Given the description of an element on the screen output the (x, y) to click on. 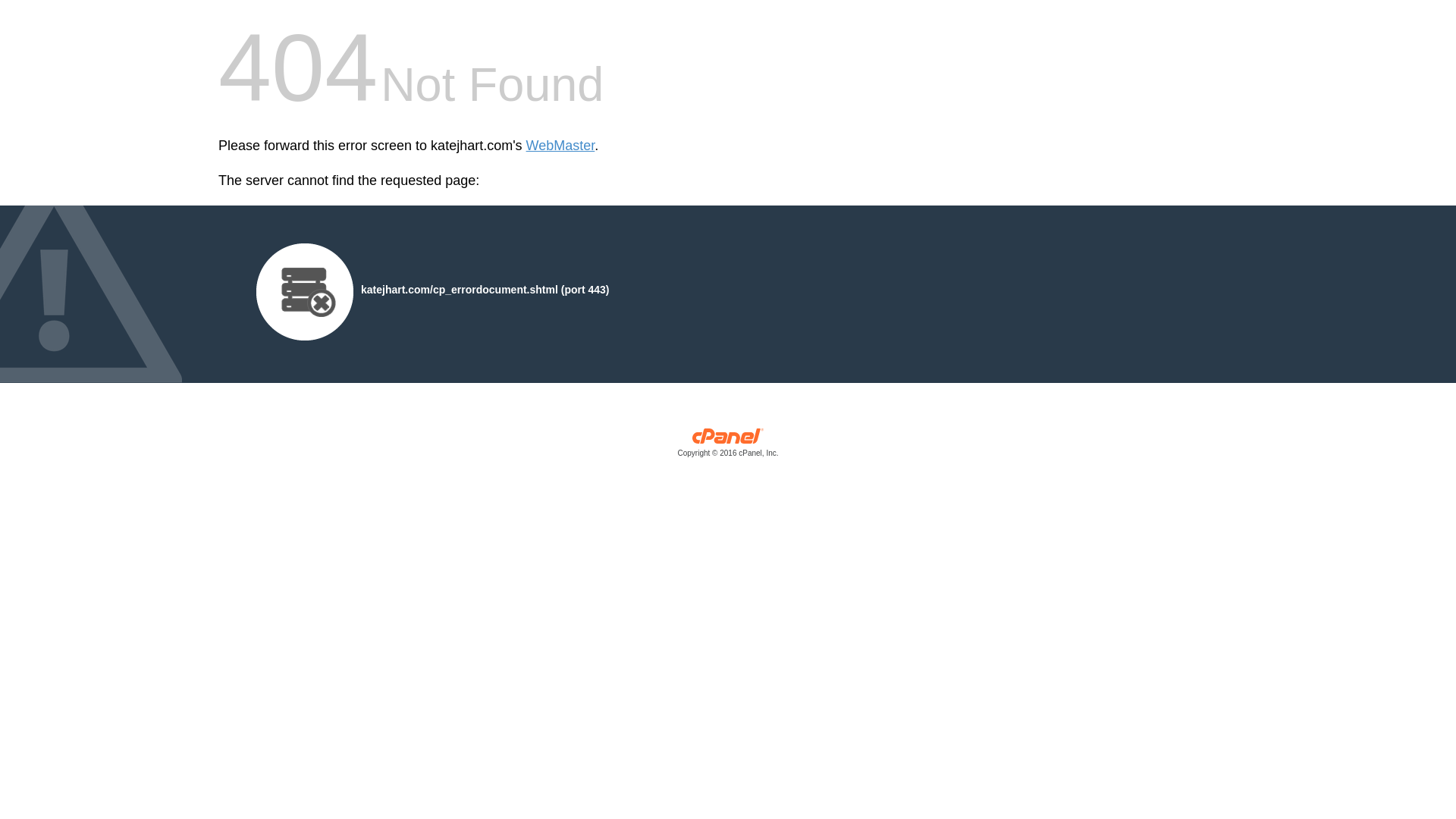
cPanel, Inc. (727, 446)
WebMaster (560, 145)
